Given the description of an element on the screen output the (x, y) to click on. 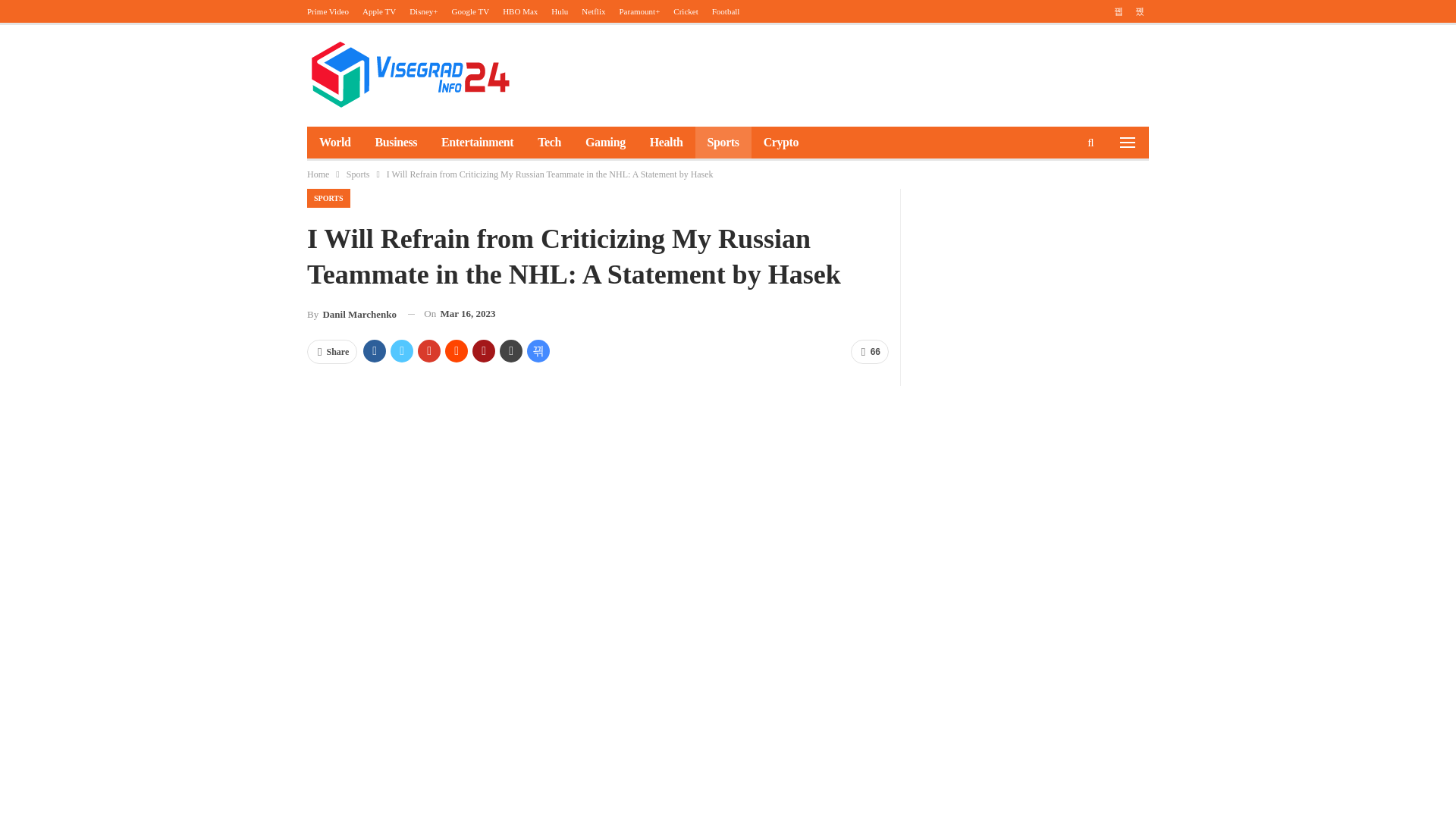
Sports (357, 174)
Business (395, 142)
Gaming (605, 142)
By Danil Marchenko (351, 313)
World (334, 142)
Sports (723, 142)
Crypto (780, 142)
Entertainment (477, 142)
HBO Max (519, 10)
Apple TV (379, 10)
Browse Author Articles (351, 313)
Prime Video (328, 10)
Home (318, 174)
Google TV (470, 10)
Hulu (559, 10)
